Given the description of an element on the screen output the (x, y) to click on. 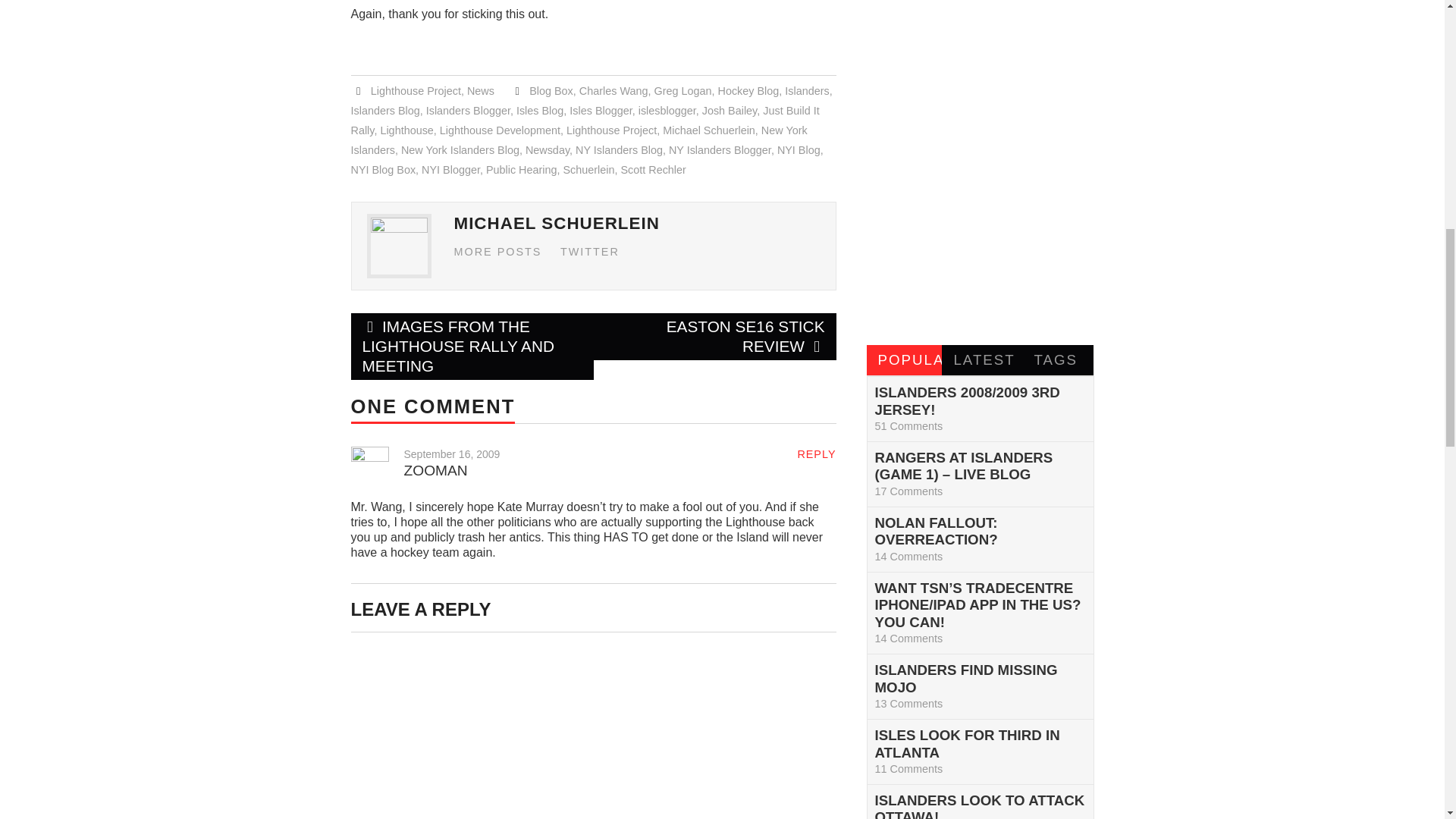
NYI Blog Box (382, 169)
Charles Wang (613, 91)
Lighthouse Development (499, 130)
Islanders (806, 91)
Greg Logan (682, 91)
New York Islanders (578, 140)
Lighthouse Project (611, 130)
Just Build It Rally (584, 120)
Michael Schuerlein (708, 130)
Comment Form (592, 731)
